Given the description of an element on the screen output the (x, y) to click on. 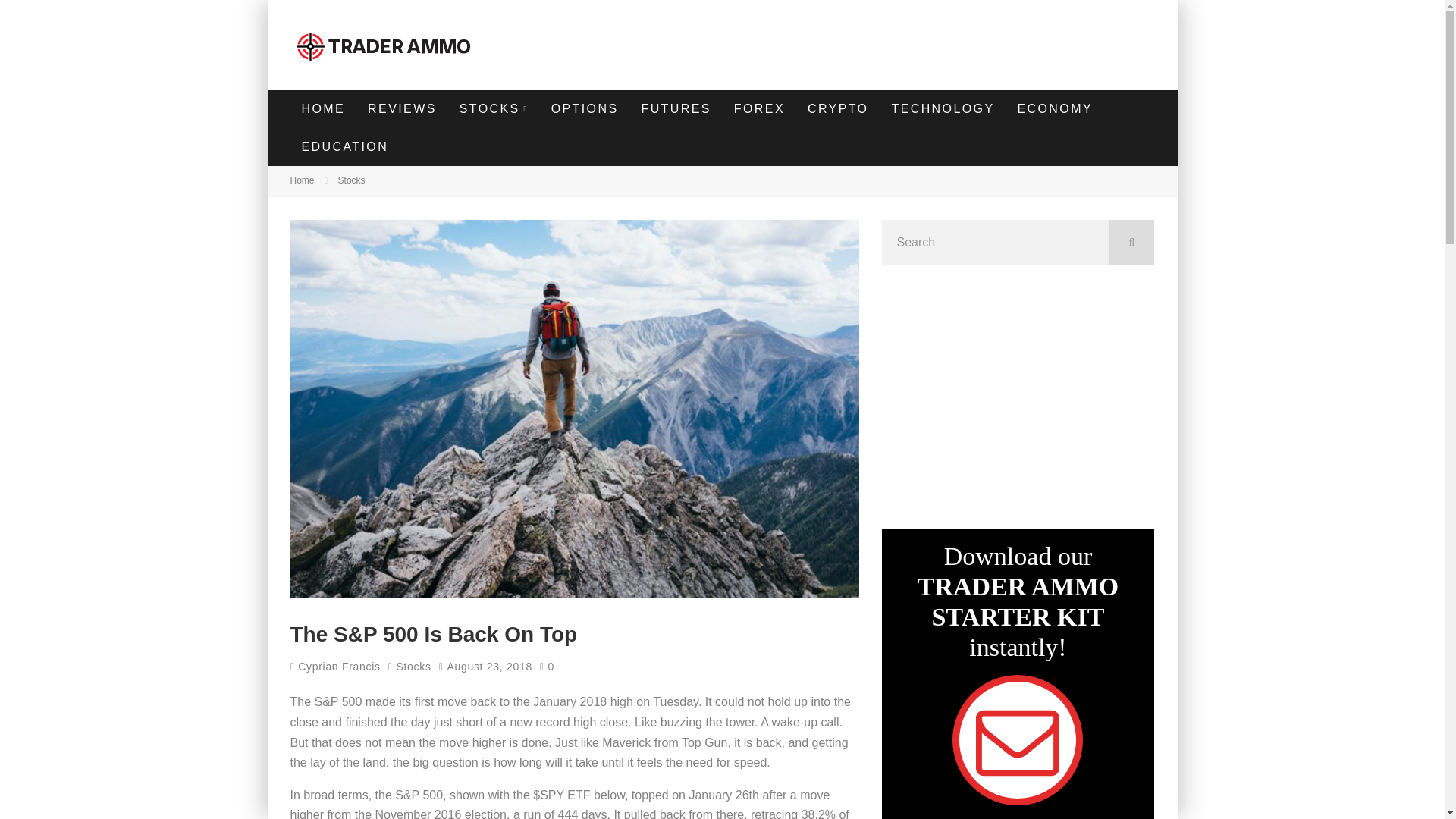
HOME (322, 108)
Advertisement (878, 41)
Advertisement (1016, 394)
REVIEWS (402, 108)
OPTIONS (585, 108)
STOCKS (494, 108)
